Given the description of an element on the screen output the (x, y) to click on. 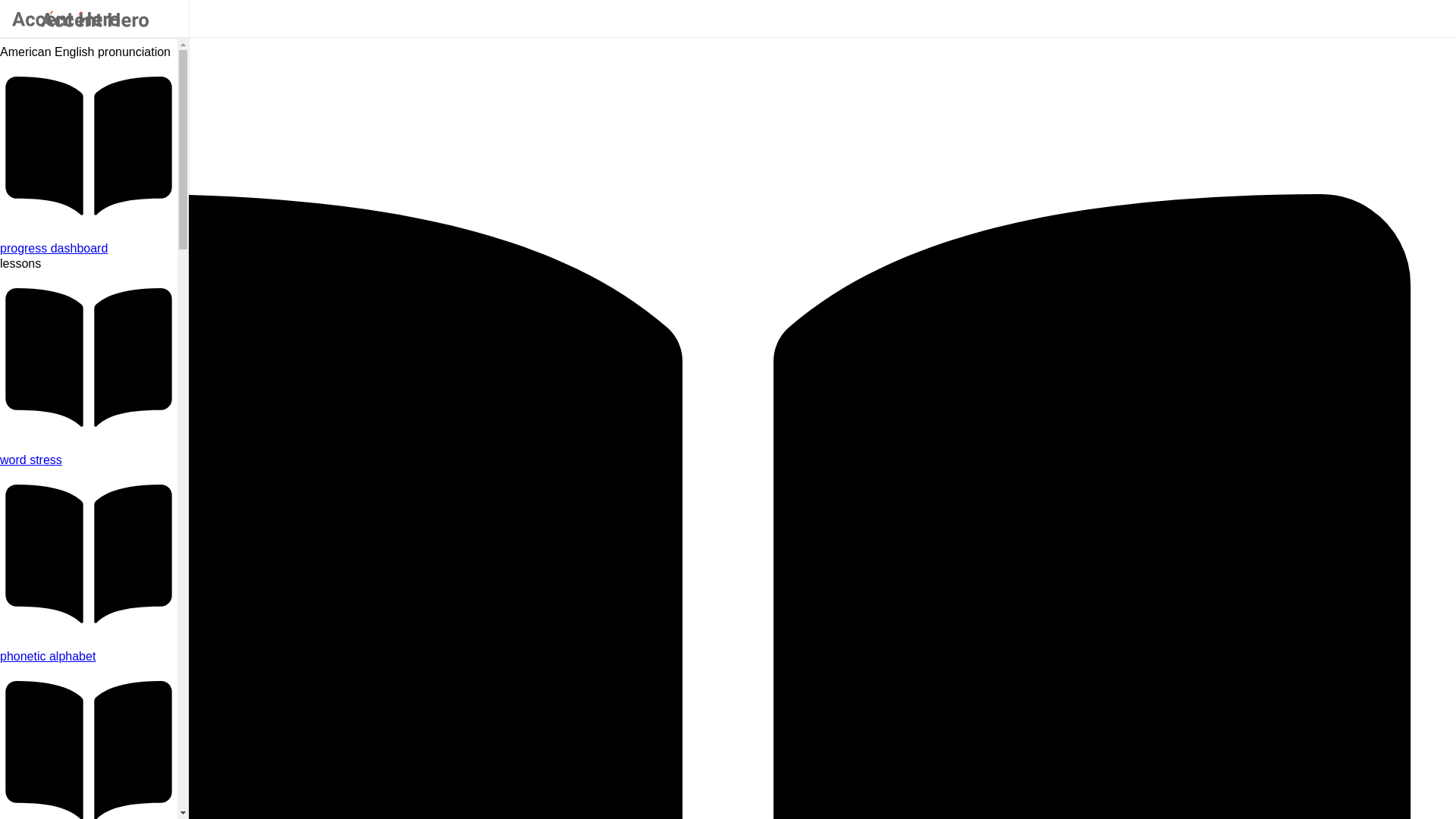
Learn how word stress influences your accent (88, 459)
Learn to precisely articulate each sound (88, 656)
